Given the description of an element on the screen output the (x, y) to click on. 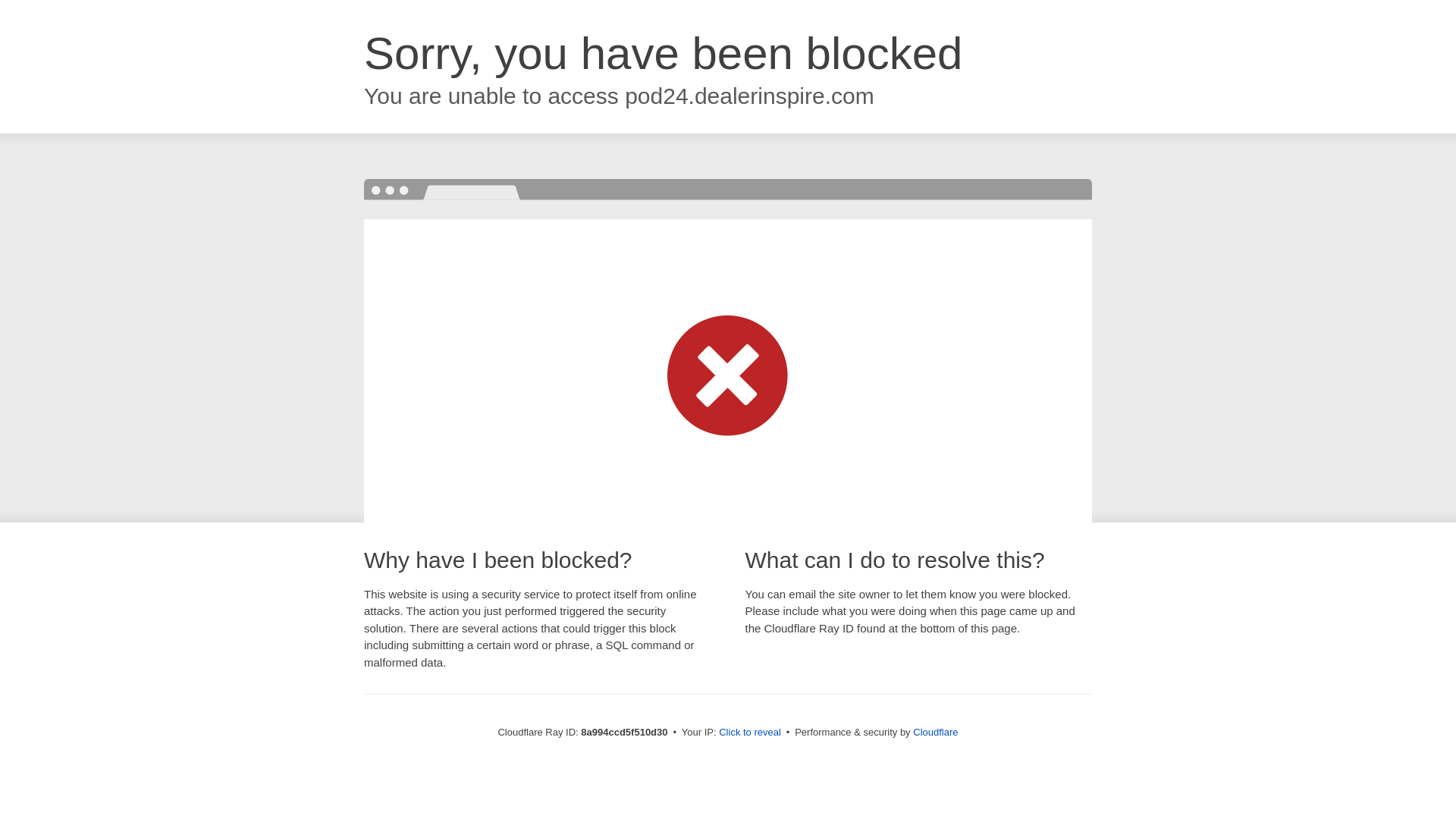
Cloudflare (935, 731)
Click to reveal (749, 732)
